Given the description of an element on the screen output the (x, y) to click on. 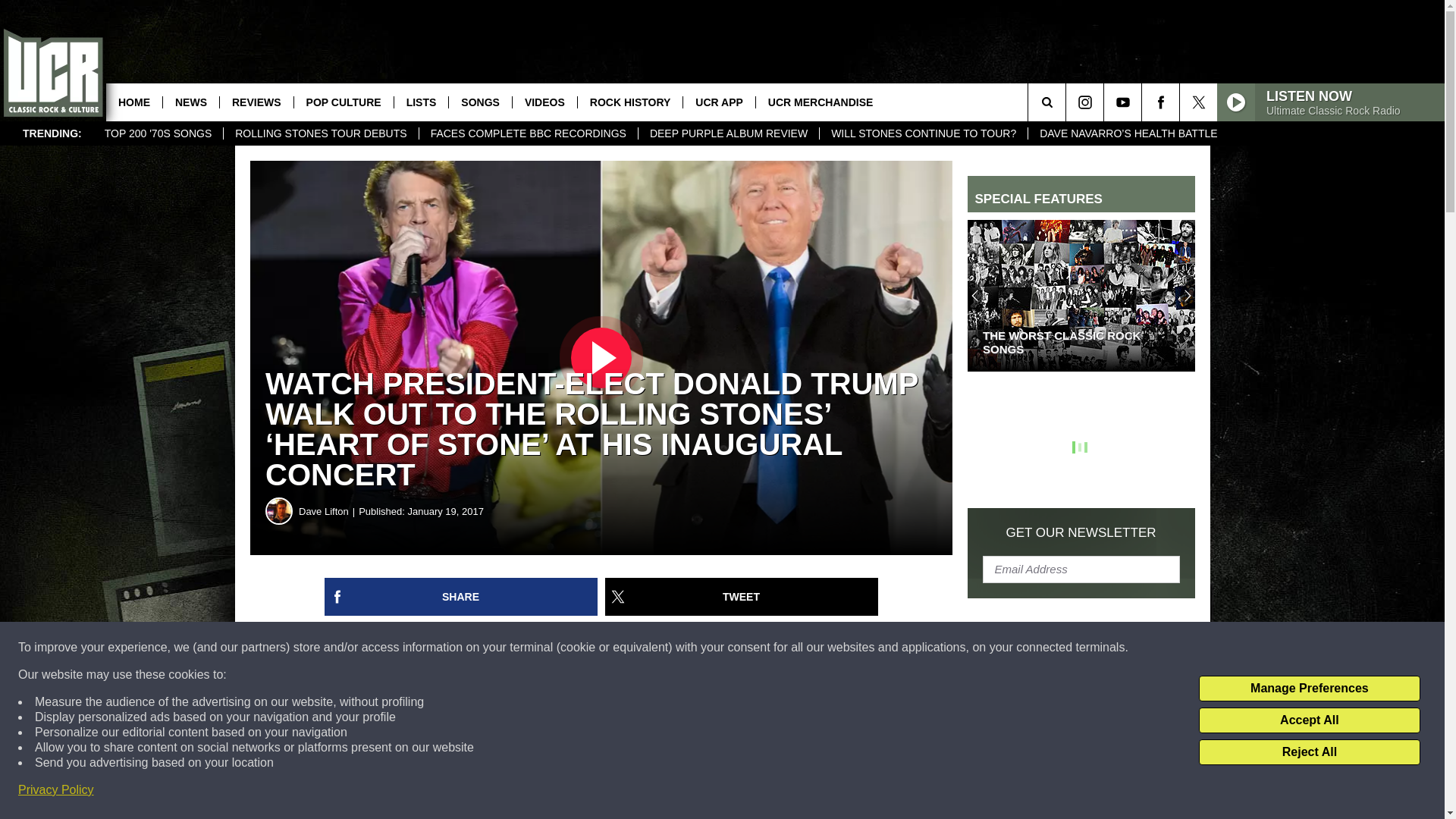
LISTS (420, 102)
HOME (133, 102)
Visit us on Twitter (1198, 102)
Email Address (1080, 568)
Accept All (1309, 720)
Visit us on Instagram (1084, 102)
Visit us on Youtube (1122, 102)
NEWS (190, 102)
Privacy Policy (55, 789)
Spin (356, 759)
FACES COMPLETE BBC RECORDINGS (528, 133)
Reject All (1309, 751)
Rolling Stones (653, 698)
SEARCH (1068, 102)
DEEP PURPLE ALBUM REVIEW (727, 133)
